Given the description of an element on the screen output the (x, y) to click on. 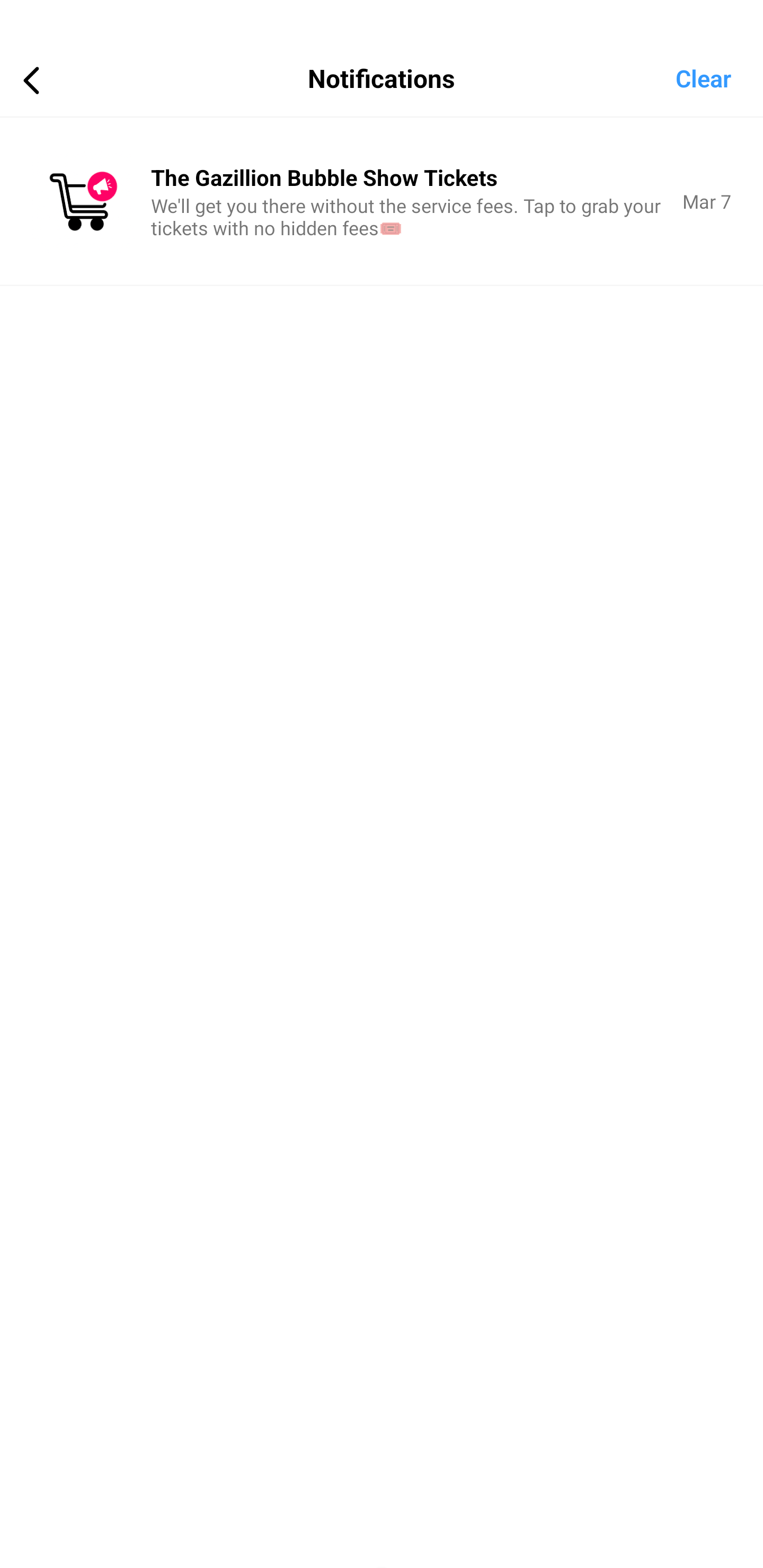
Clear (719, 77)
